Given the description of an element on the screen output the (x, y) to click on. 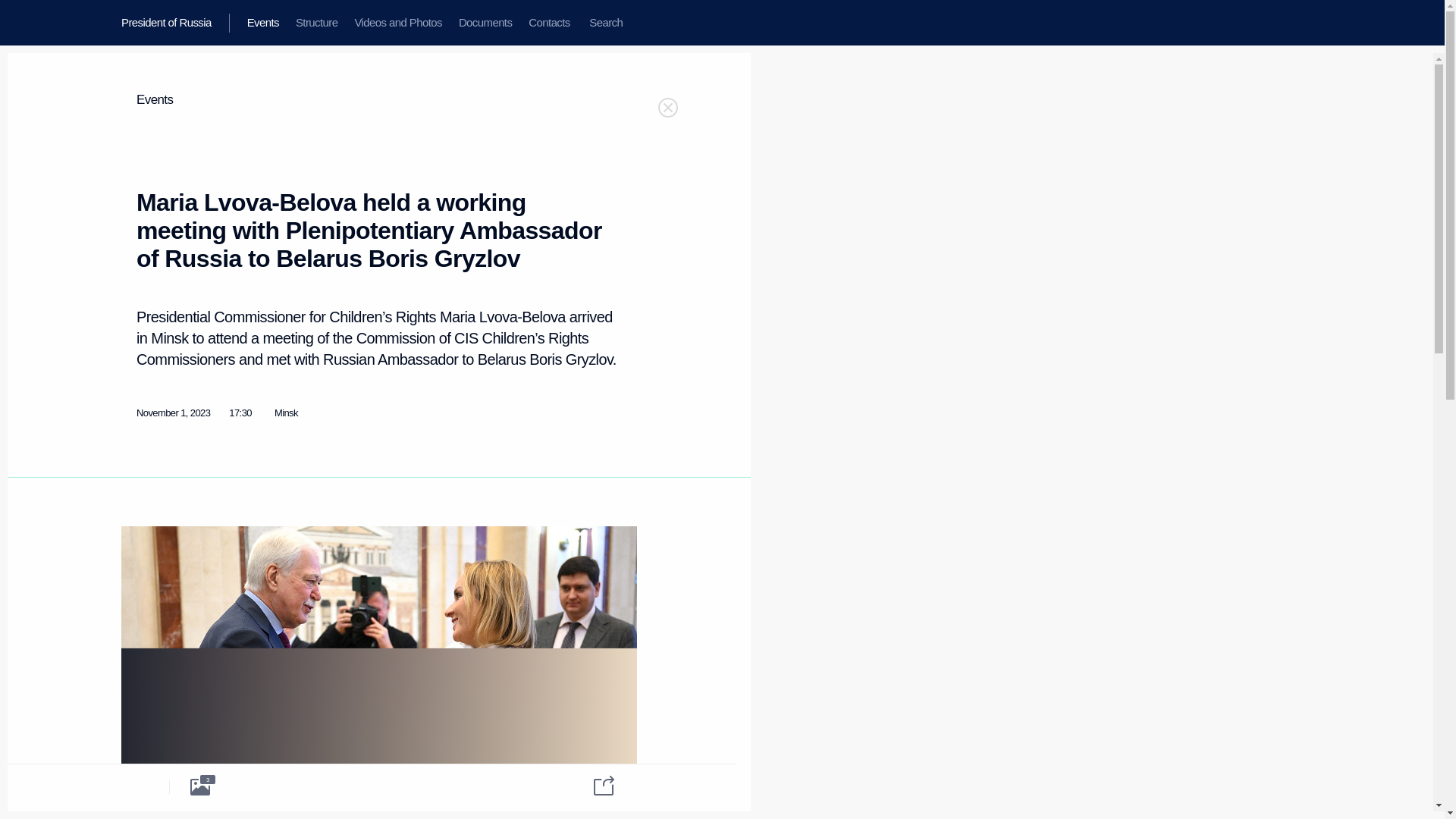
Text (137, 786)
Contacts (548, 22)
Events (154, 99)
Events (262, 22)
Videos and Photos (397, 22)
Structure (316, 22)
President of Russia (175, 22)
Photo (200, 786)
Documents (484, 22)
Share (593, 784)
Global website search (605, 22)
Search (605, 22)
